Given the description of an element on the screen output the (x, y) to click on. 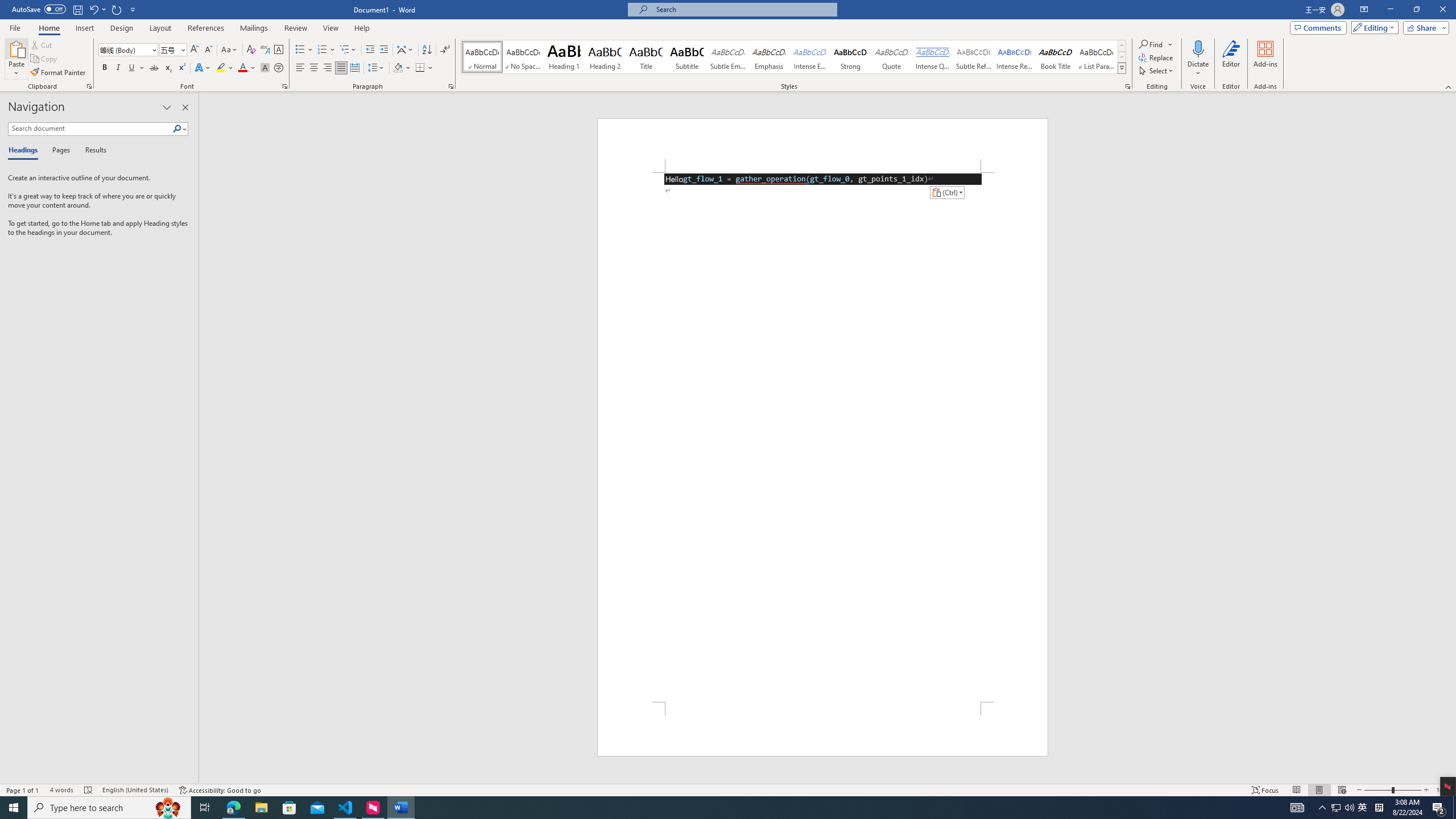
Quote (891, 56)
